Given the description of an element on the screen output the (x, y) to click on. 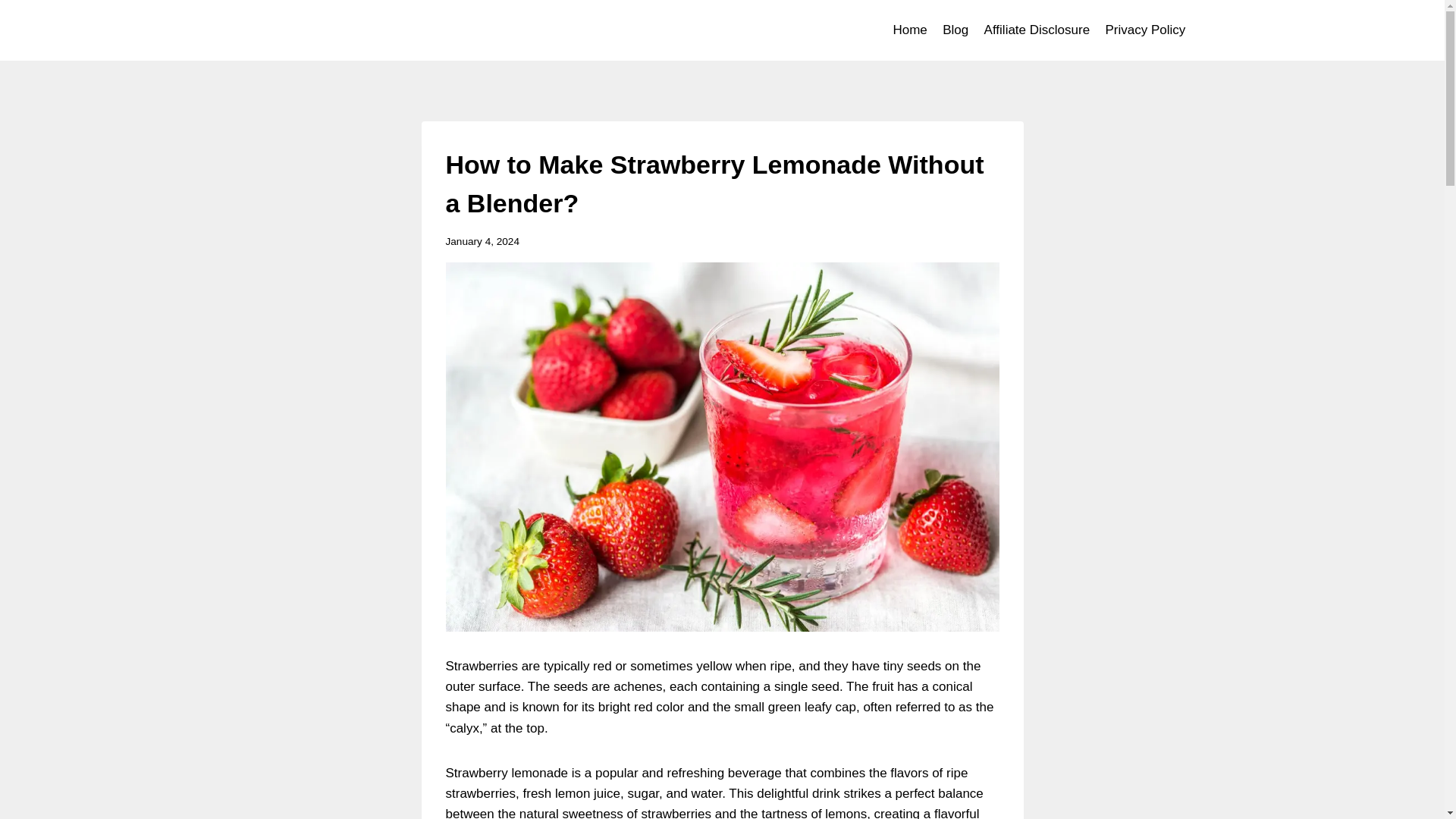
Home (909, 30)
Privacy Policy (1144, 30)
Affiliate Disclosure (1036, 30)
Blog (954, 30)
